Given the description of an element on the screen output the (x, y) to click on. 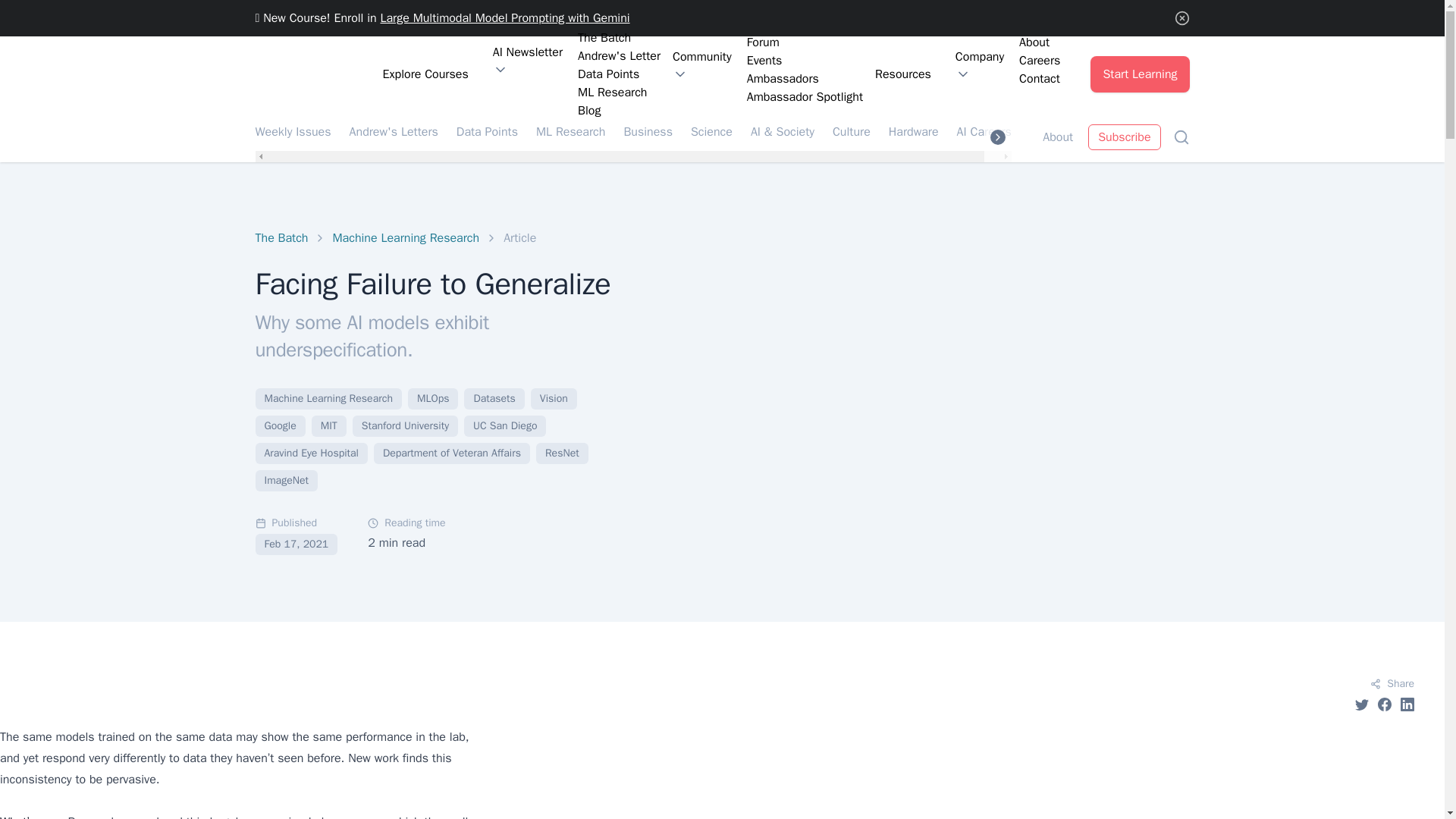
Contact (1039, 78)
About (1039, 42)
Hardware (913, 131)
The Batch (280, 238)
Large Multimodal Model Prompting with Gemini (504, 17)
Data Points (487, 131)
Science (711, 131)
Resources (903, 74)
Andrew's Letters (393, 131)
Forum (804, 42)
